Given the description of an element on the screen output the (x, y) to click on. 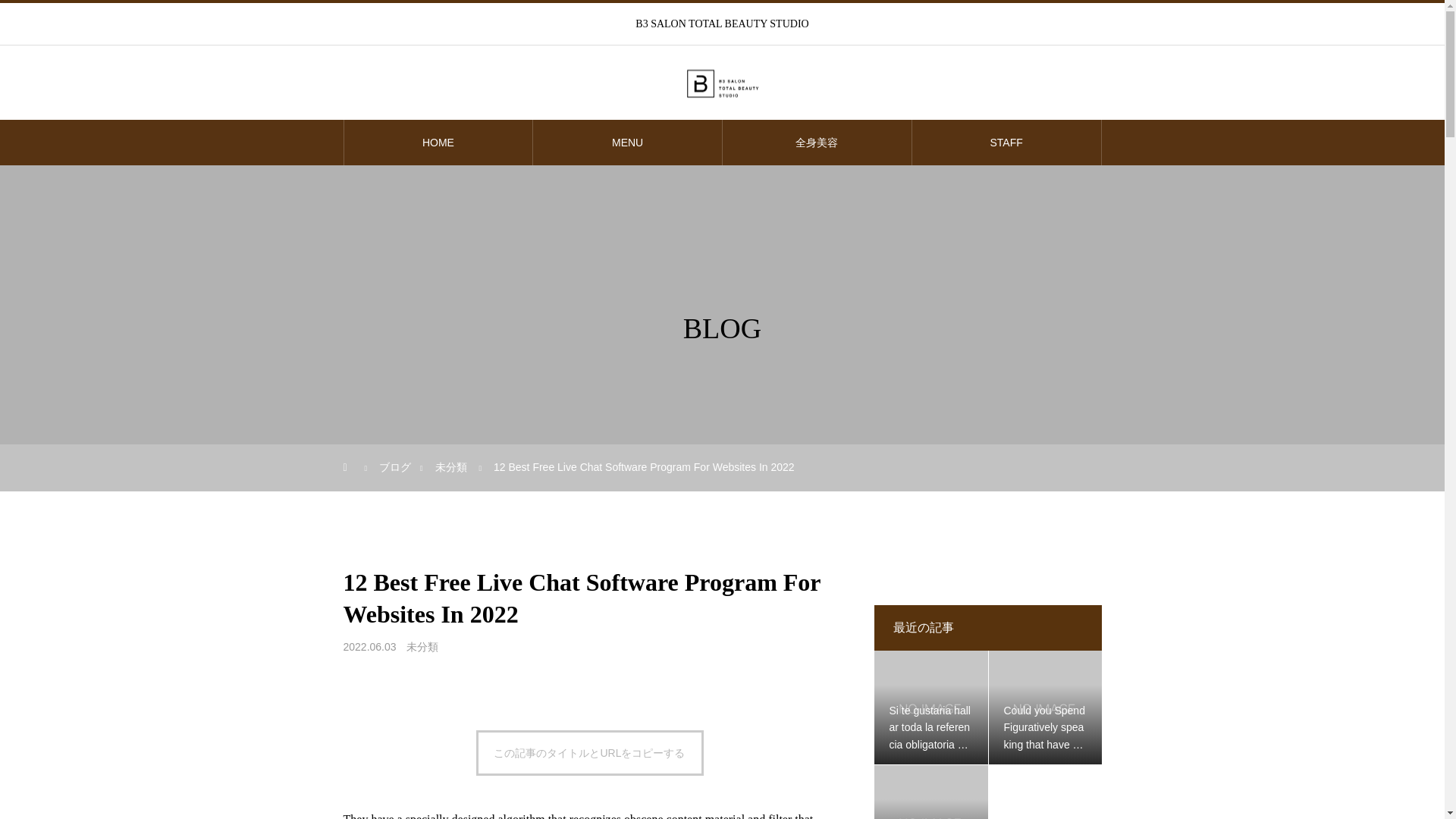
B3-SALON (722, 83)
STAFF (1006, 142)
HOME (437, 142)
MENU (627, 142)
B3-SALON (721, 83)
